Given the description of an element on the screen output the (x, y) to click on. 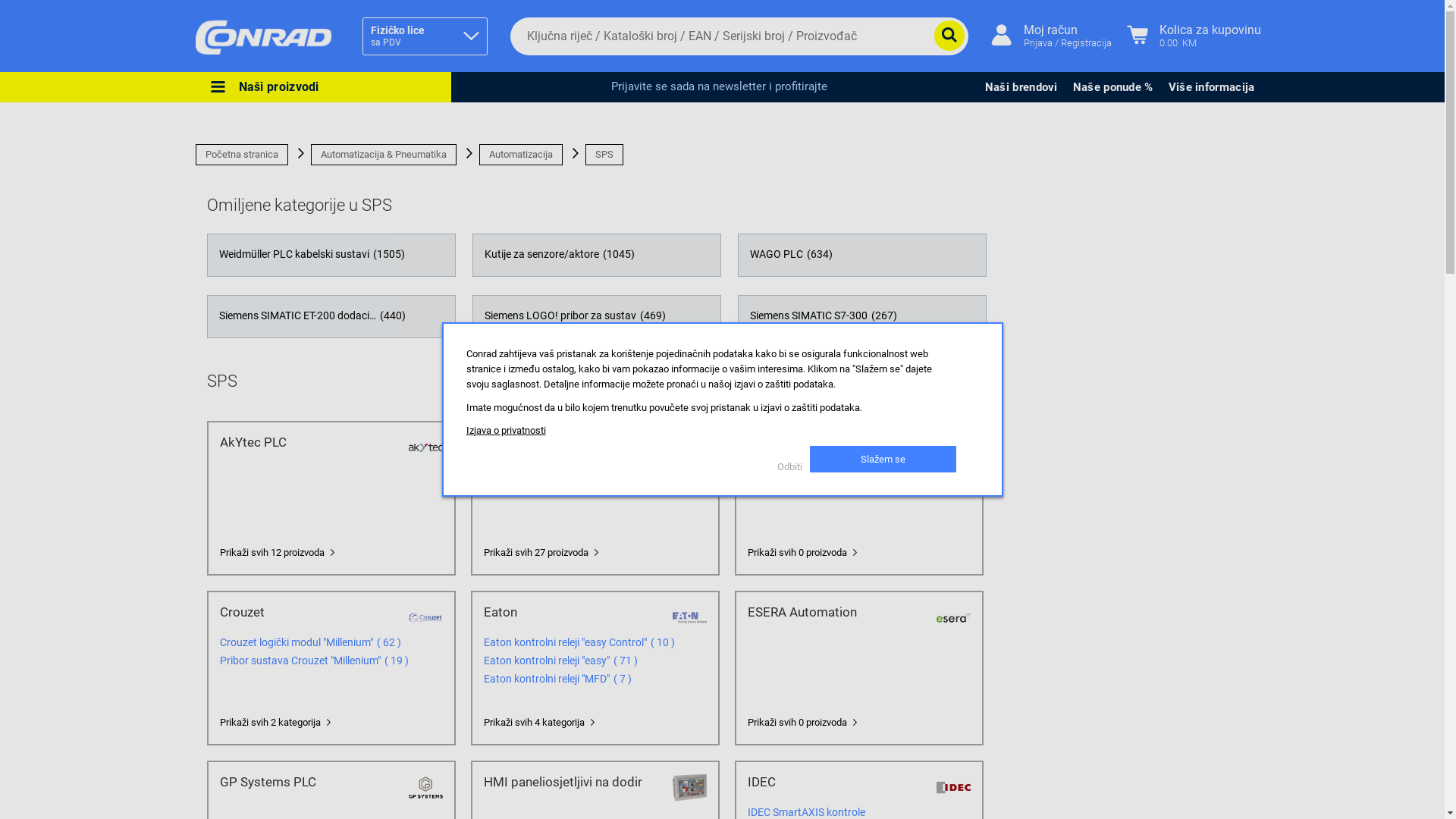
ESERA Automation Element type: text (836, 611)
HMI paneliosjetljivi na dodir Element type: text (572, 781)
Kutije za senzore/aktore
(1045) Element type: text (596, 254)
Conrad Element type: hover (263, 35)
Automatizacija & Pneumatika Element type: text (383, 154)
Arduino SPS Element type: text (572, 441)
Berghof SPS Element type: text (836, 441)
Siemens SIMATIC ET-200 dodaci za sustav
(440) Element type: text (330, 316)
Eaton kontrolni releji "MFD"
( 7 ) Element type: text (620, 678)
Eaton kontrolni releji "easy Control"
( 10 ) Element type: text (660, 642)
Automatizacija Element type: text (520, 154)
Odbiti Element type: text (792, 466)
Eaton Element type: text (572, 611)
SPS Element type: text (604, 154)
AkYtec PLC Element type: text (308, 441)
GP Systems PLC Element type: text (308, 781)
Crouzet Element type: text (308, 611)
Siemens LOGO! pribor za sustav
(469) Element type: text (596, 316)
WAGO PLC
(634) Element type: text (861, 254)
Submit button Element type: hover (949, 35)
Izjava o privatnosti Element type: text (505, 430)
Kolica za kupovinu
0.00  KM Element type: text (1193, 35)
Eaton kontrolni releji "easy"
( 71 ) Element type: text (623, 660)
Pravno lice Element type: text (294, 237)
IDEC Element type: text (836, 781)
Pribor sustava Crouzet "Millenium"
( 19 ) Element type: text (394, 660)
Prijavite se sada na newsletter i profitirajte Element type: text (719, 86)
Siemens SIMATIC S7-300
(267) Element type: text (861, 316)
